Given the description of an element on the screen output the (x, y) to click on. 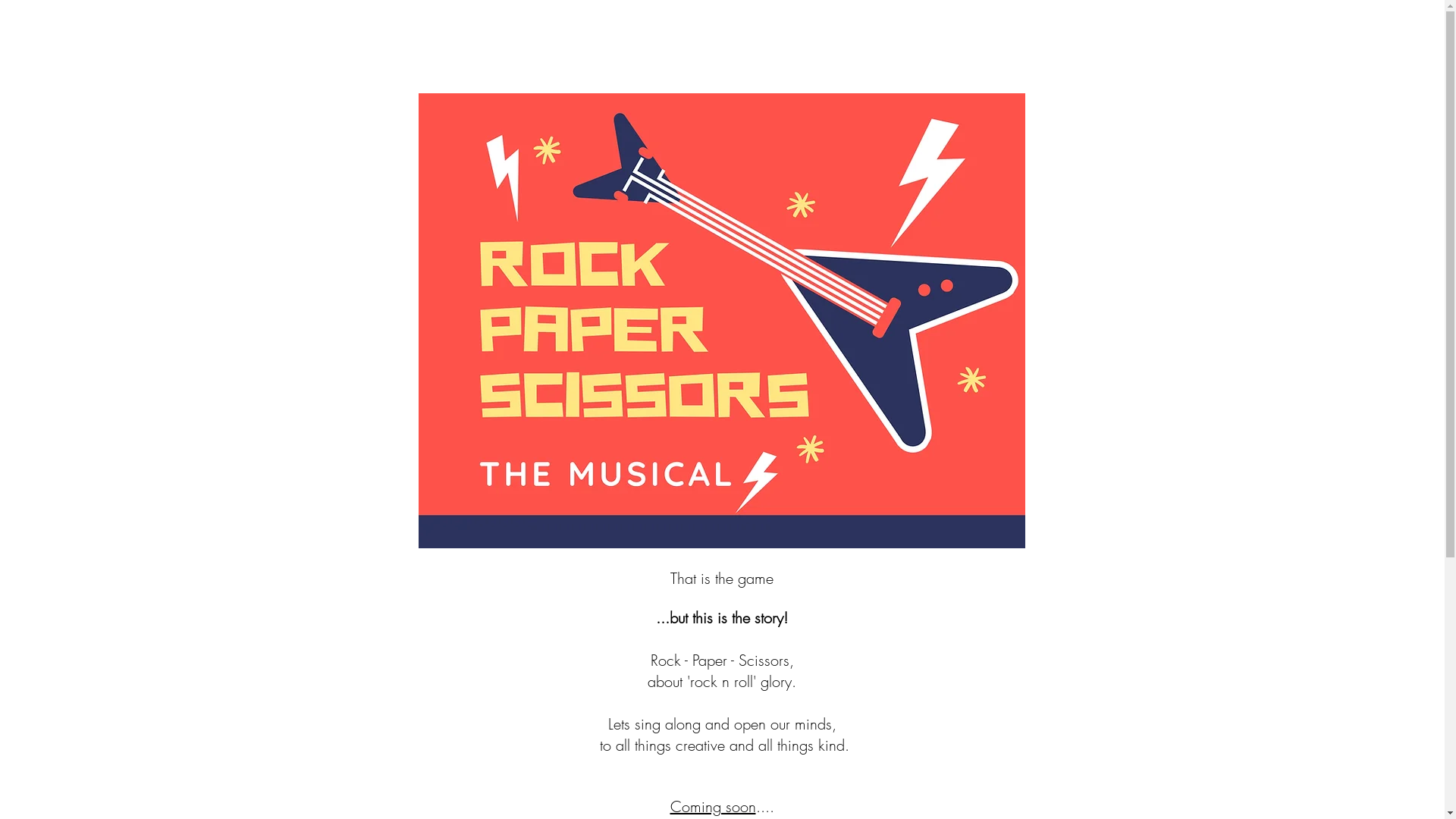
Coming soon Element type: text (713, 806)
